Given the description of an element on the screen output the (x, y) to click on. 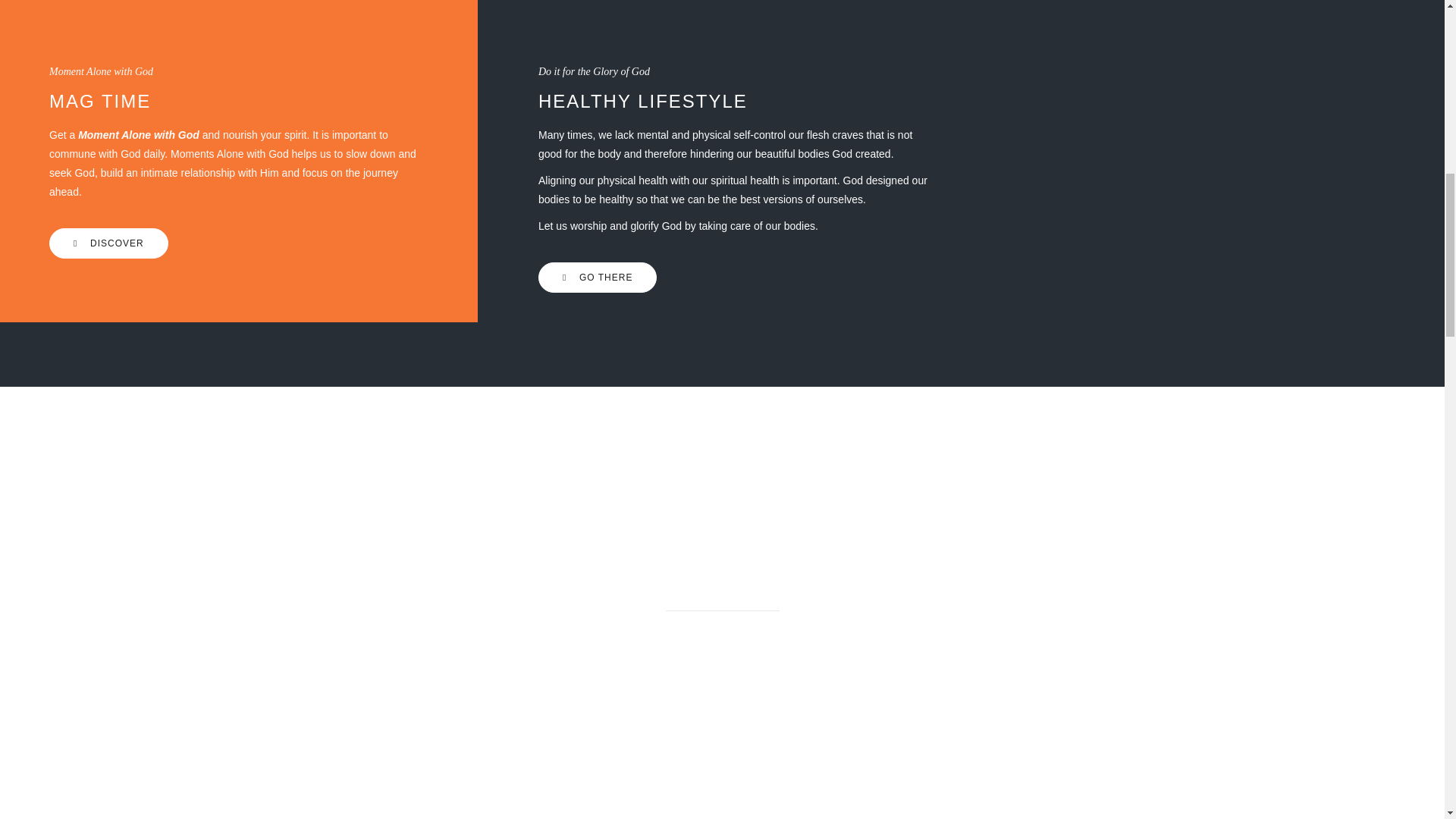
GO THERE (597, 277)
DISCOVER (108, 243)
EXPLORE (718, 764)
